Given the description of an element on the screen output the (x, y) to click on. 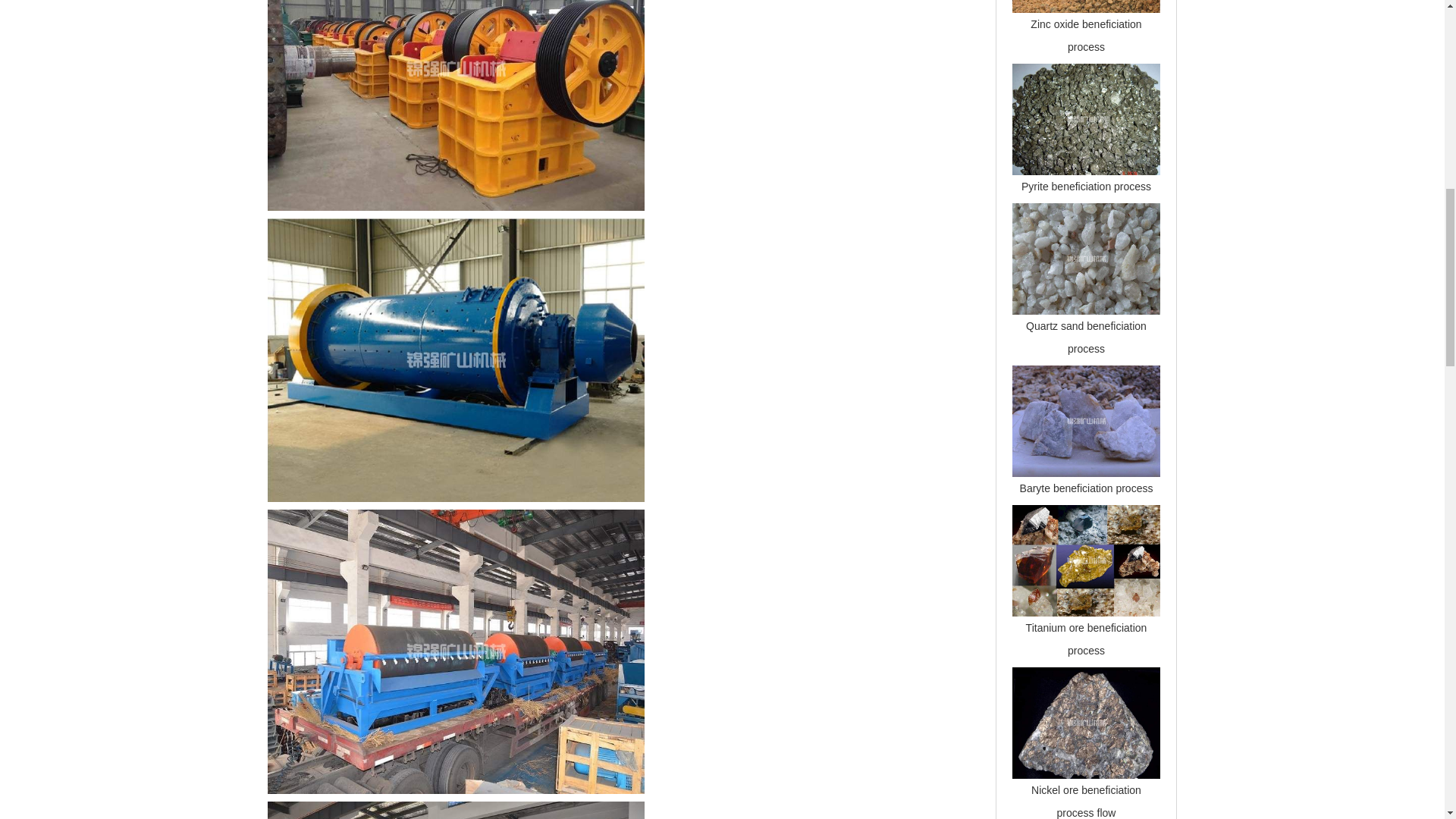
Baryte beneficiation process (1085, 420)
Nickel ore beneficiation process flow (1085, 801)
Titanium ore beneficiation process (1086, 638)
Quartz sand beneficiation process (1085, 258)
Baryte beneficiation process (1086, 488)
Zinc oxide beneficiation process (1085, 35)
Baryte beneficiation process (1086, 488)
Quartz sand beneficiation process (1086, 337)
Titanium ore beneficiation process (1086, 638)
Pyrite beneficiation process (1086, 186)
Zinc oxide beneficiation process (1085, 35)
Titanium ore beneficiation process (1085, 560)
Pyrite beneficiation process (1085, 119)
Zinc oxide beneficiation process (1085, 6)
Nickel ore beneficiation process flow (1085, 801)
